Given the description of an element on the screen output the (x, y) to click on. 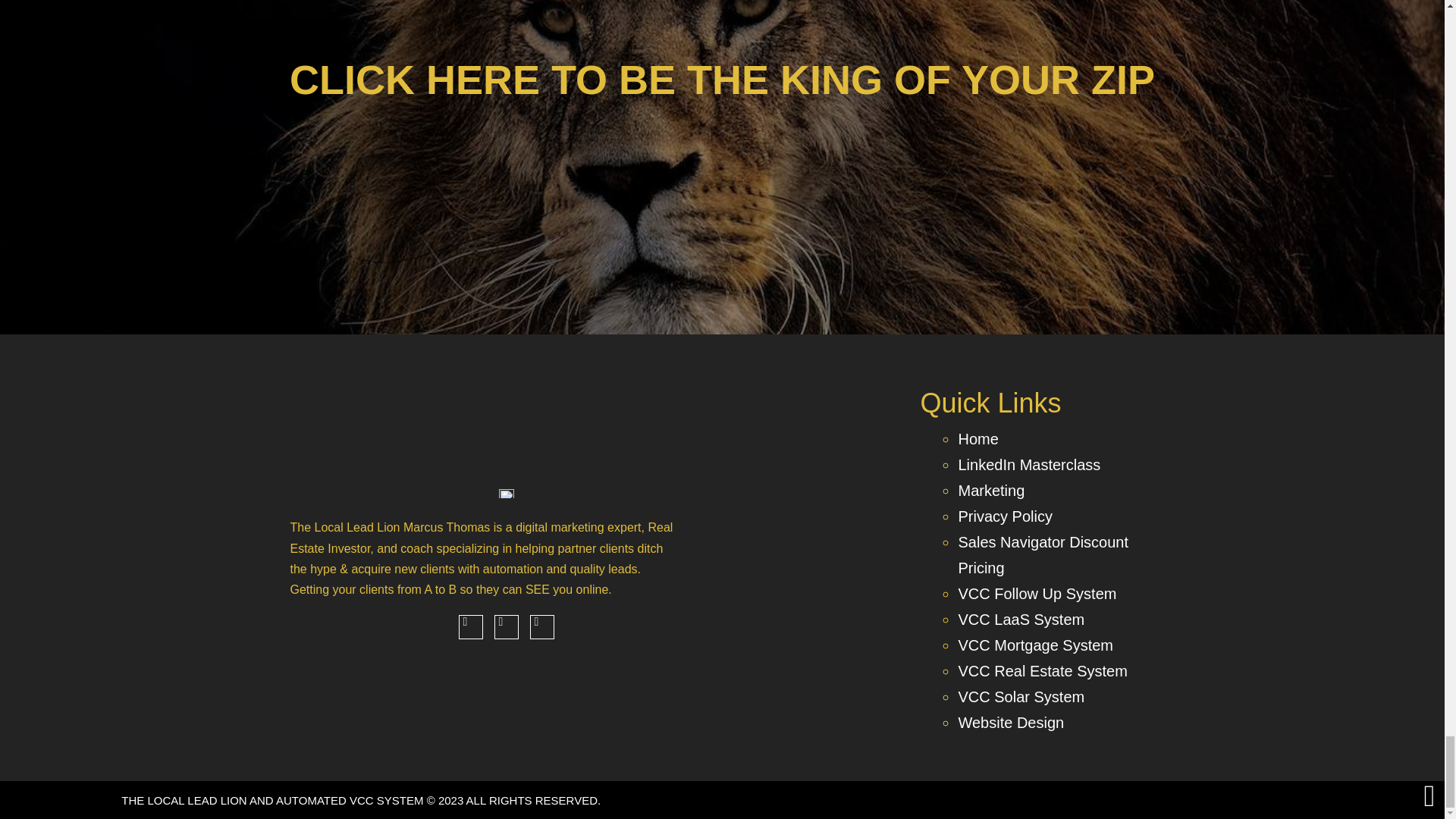
VCC LaaS System (1021, 619)
Sales Navigator Discount Pricing (1043, 554)
Marketing (991, 490)
LinkedIn Masterclass (1029, 464)
VCC Follow Up System (1037, 593)
Website Design (1011, 722)
VCC Mortgage System (1035, 645)
Home (977, 438)
VCC Solar System (1021, 696)
Privacy Policy (1004, 515)
VCC Real Estate System (1042, 670)
